Given the description of an element on the screen output the (x, y) to click on. 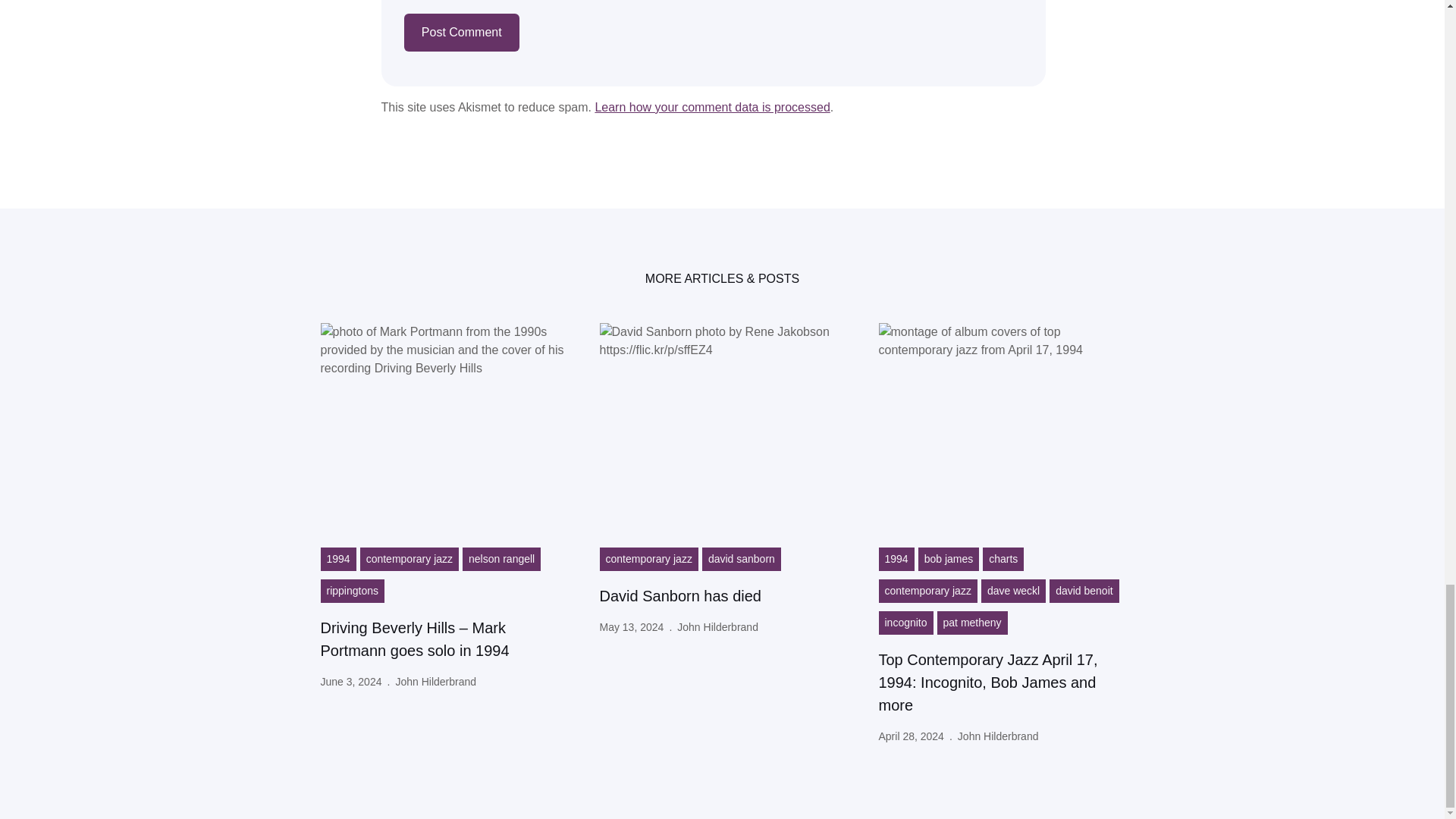
david benoit (1084, 590)
David Sanborn has died (679, 595)
Post Comment (460, 31)
Post Comment (460, 31)
contemporary jazz (408, 558)
contemporary jazz (926, 590)
Learn how your comment data is processed (711, 106)
nelson rangell (501, 558)
bob james (948, 558)
1994 (337, 558)
